Given the description of an element on the screen output the (x, y) to click on. 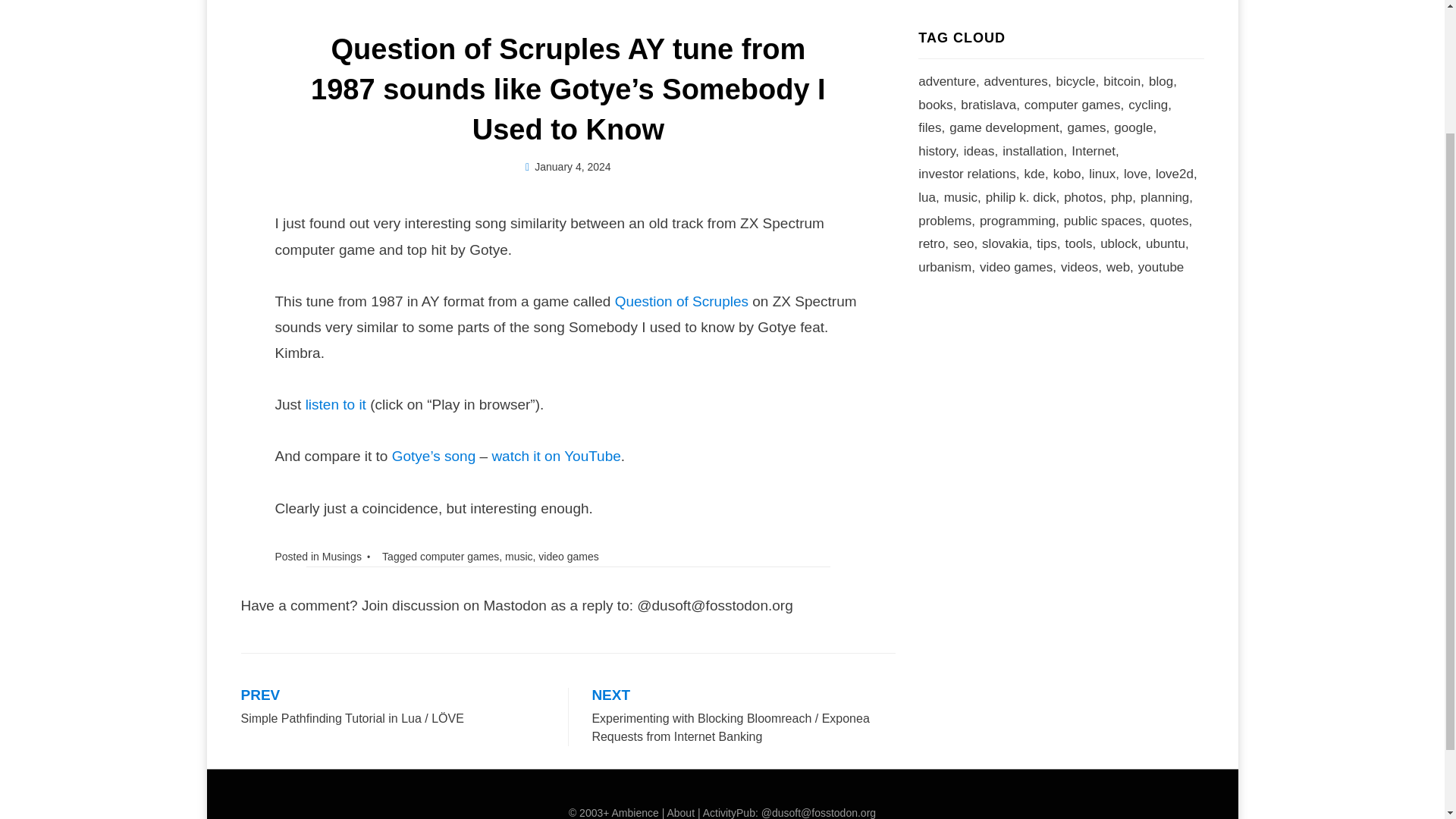
blog (1164, 82)
Daniel Duris (577, 166)
google (1136, 128)
cycling (1152, 105)
love (1140, 174)
game development (1008, 128)
history (940, 151)
kde (1037, 174)
linux (1106, 174)
games (1091, 128)
